Given the description of an element on the screen output the (x, y) to click on. 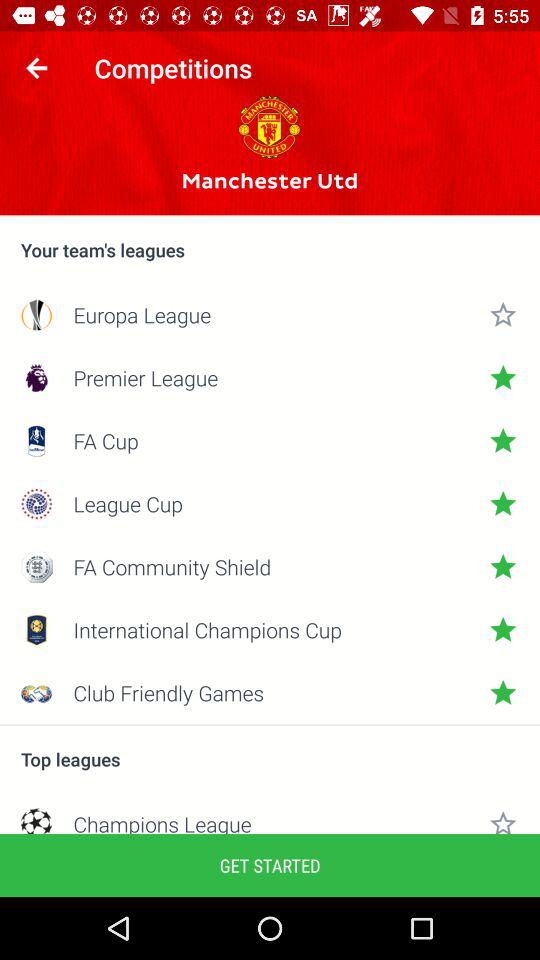
tap the item below top leagues item (269, 821)
